Given the description of an element on the screen output the (x, y) to click on. 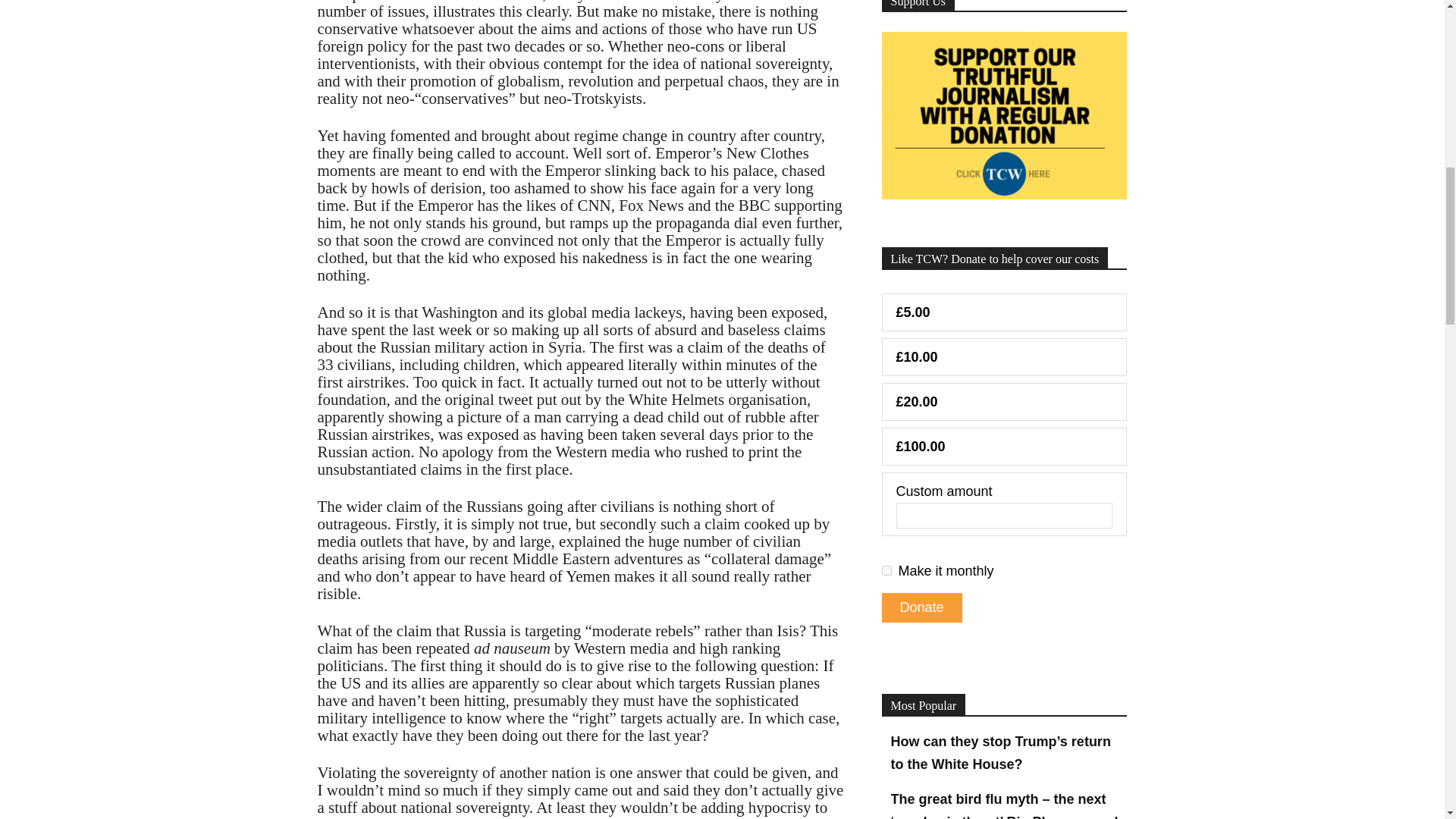
month (885, 570)
